Given the description of an element on the screen output the (x, y) to click on. 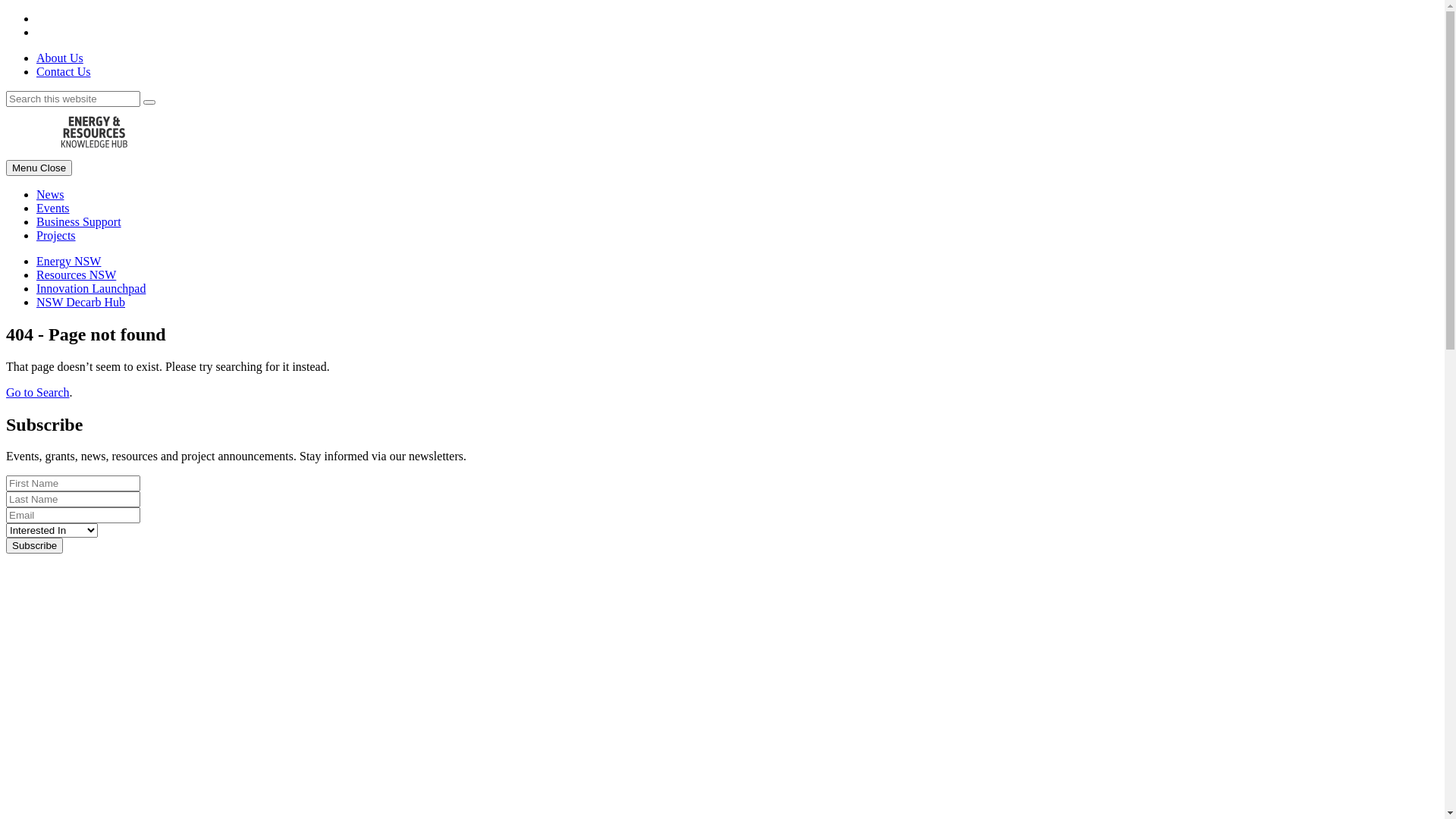
NSW Decarb Hub Element type: text (80, 301)
Resources NSW Element type: text (76, 274)
News Element type: text (49, 194)
Projects Element type: text (55, 235)
Go to Search Element type: text (37, 391)
Business Support Element type: text (78, 221)
Menu Close Element type: text (39, 167)
Innovation Launchpad Element type: text (90, 288)
About Us Element type: text (59, 57)
Contact Us Element type: text (63, 71)
Energy NSW Element type: text (68, 260)
Subscribe Element type: text (34, 545)
Events Element type: text (52, 207)
